Given the description of an element on the screen output the (x, y) to click on. 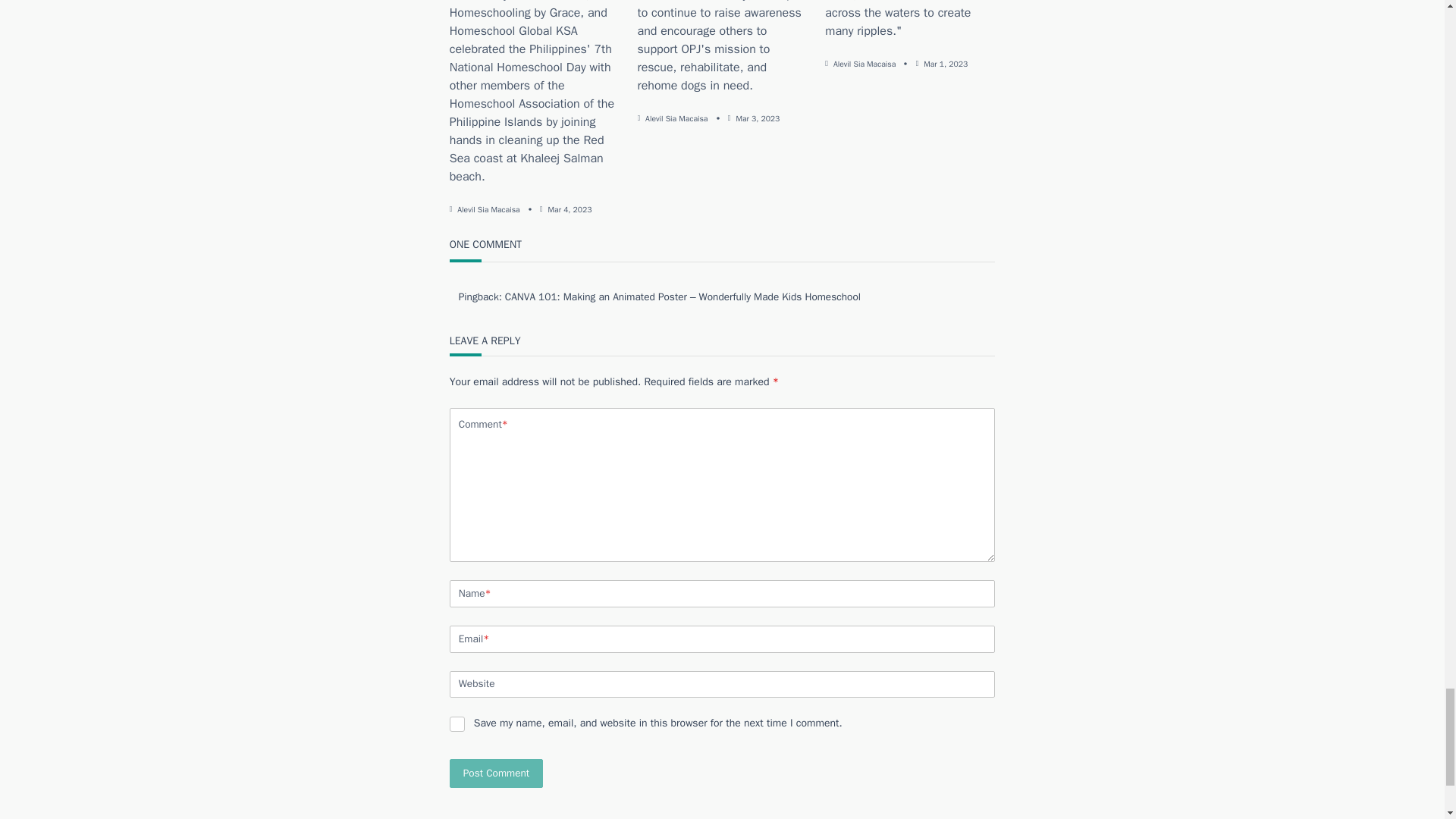
Post Comment (496, 773)
yes (456, 724)
